Given the description of an element on the screen output the (x, y) to click on. 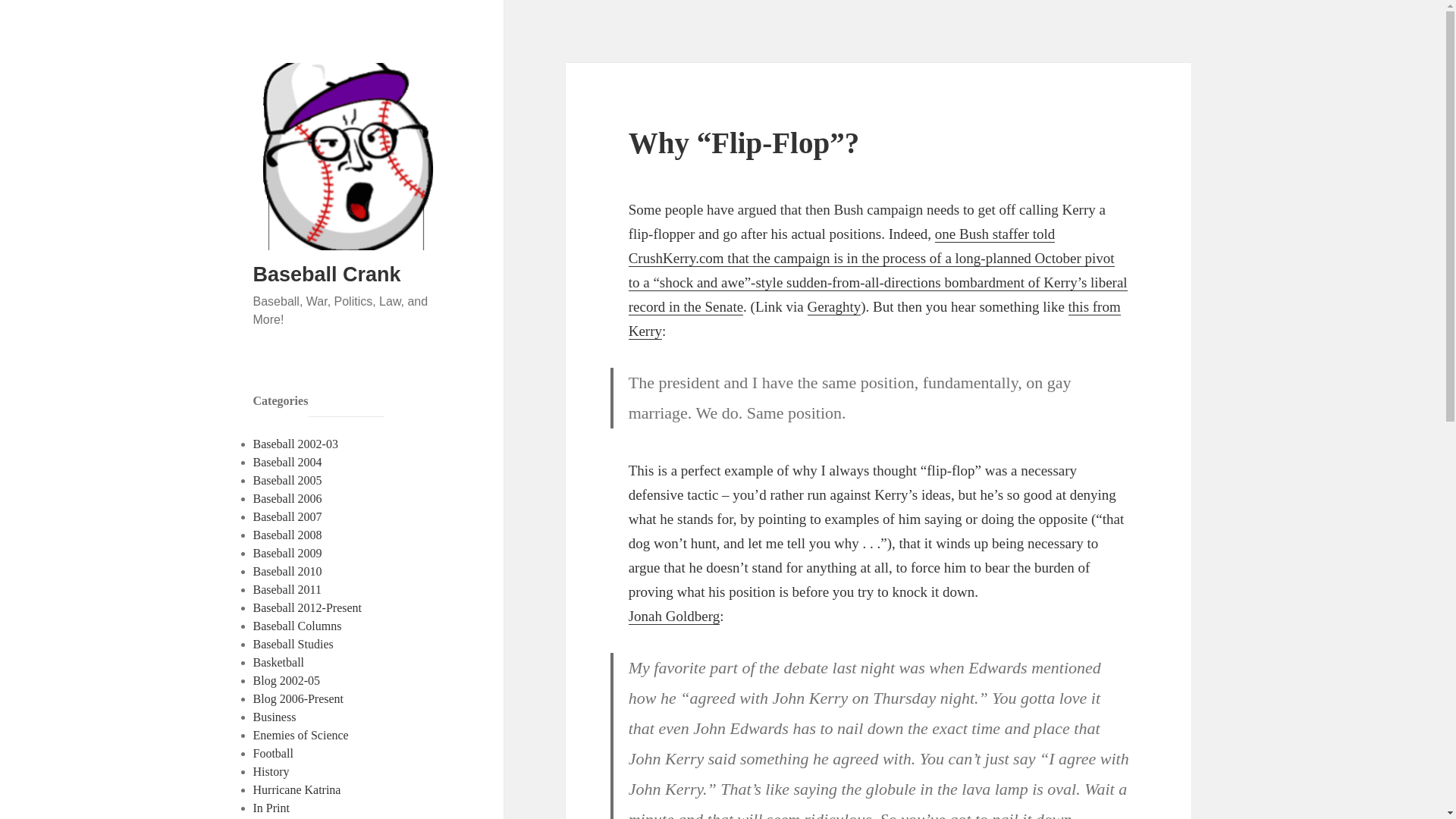
Basketball (278, 662)
Football (273, 753)
Blog 2006-Present (298, 698)
Baseball 2006 (287, 498)
Baseball 2009 (287, 553)
Baseball 2005 (287, 480)
Baseball 2010 (287, 571)
Baseball 2011 (287, 589)
Blog 2002-05 (286, 680)
Baseball 2012-Present (307, 607)
Hurricane Katrina (296, 789)
Enemies of Science (301, 735)
Baseball 2008 (287, 534)
Baseball 2002-03 (295, 443)
Baseball Studies (293, 644)
